Given the description of an element on the screen output the (x, y) to click on. 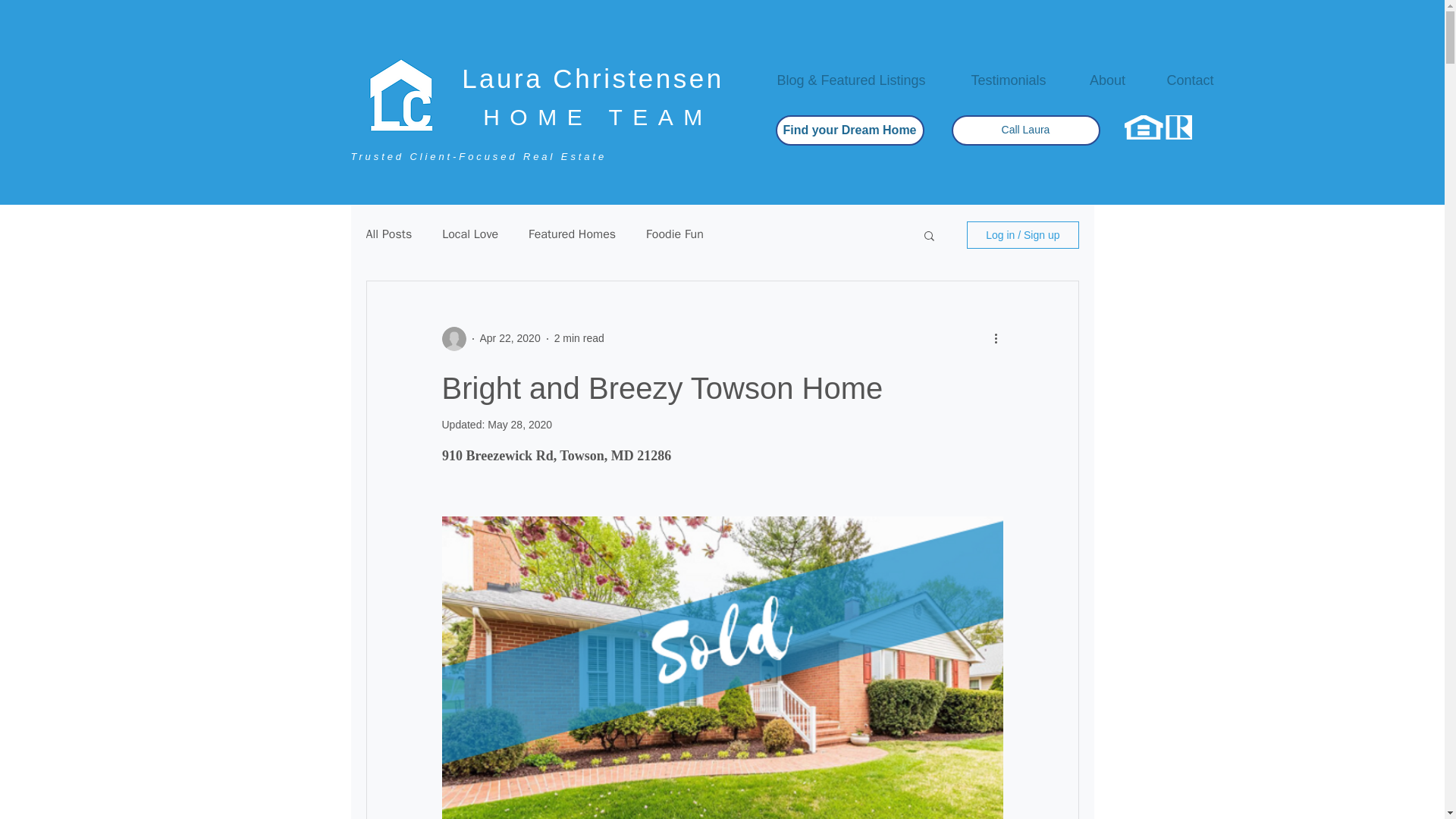
Call Laura (1024, 130)
Featured Homes (571, 234)
Apr 22, 2020 (509, 337)
Contact (1190, 79)
All Posts (388, 234)
Foodie Fun (674, 234)
May 28, 2020 (519, 424)
Testimonials (1007, 79)
Find your Dream Home (848, 130)
About (1107, 79)
2 min read (579, 337)
Local Love (469, 234)
